Given the description of an element on the screen output the (x, y) to click on. 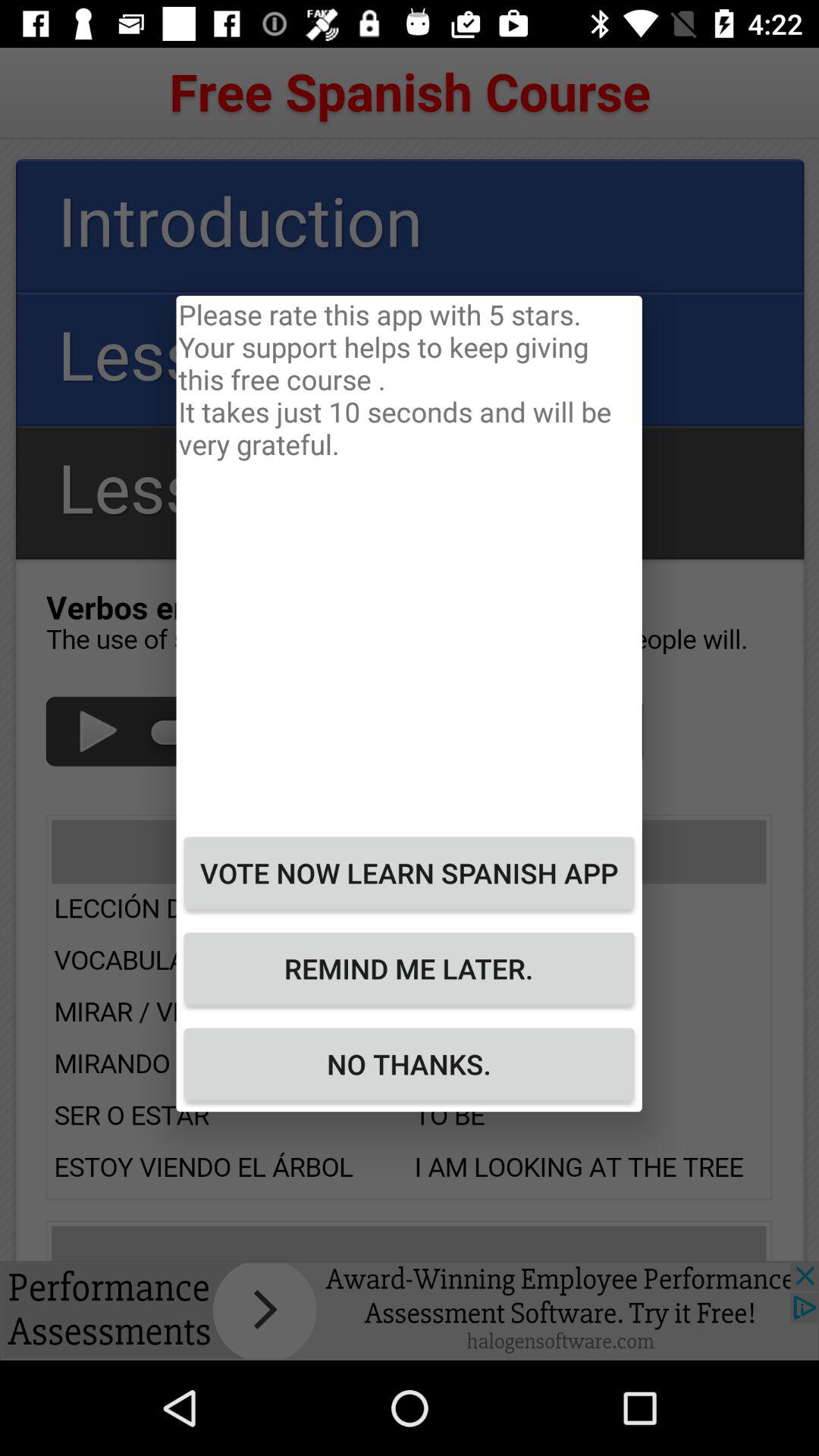
flip until remind me later. (409, 968)
